Given the description of an element on the screen output the (x, y) to click on. 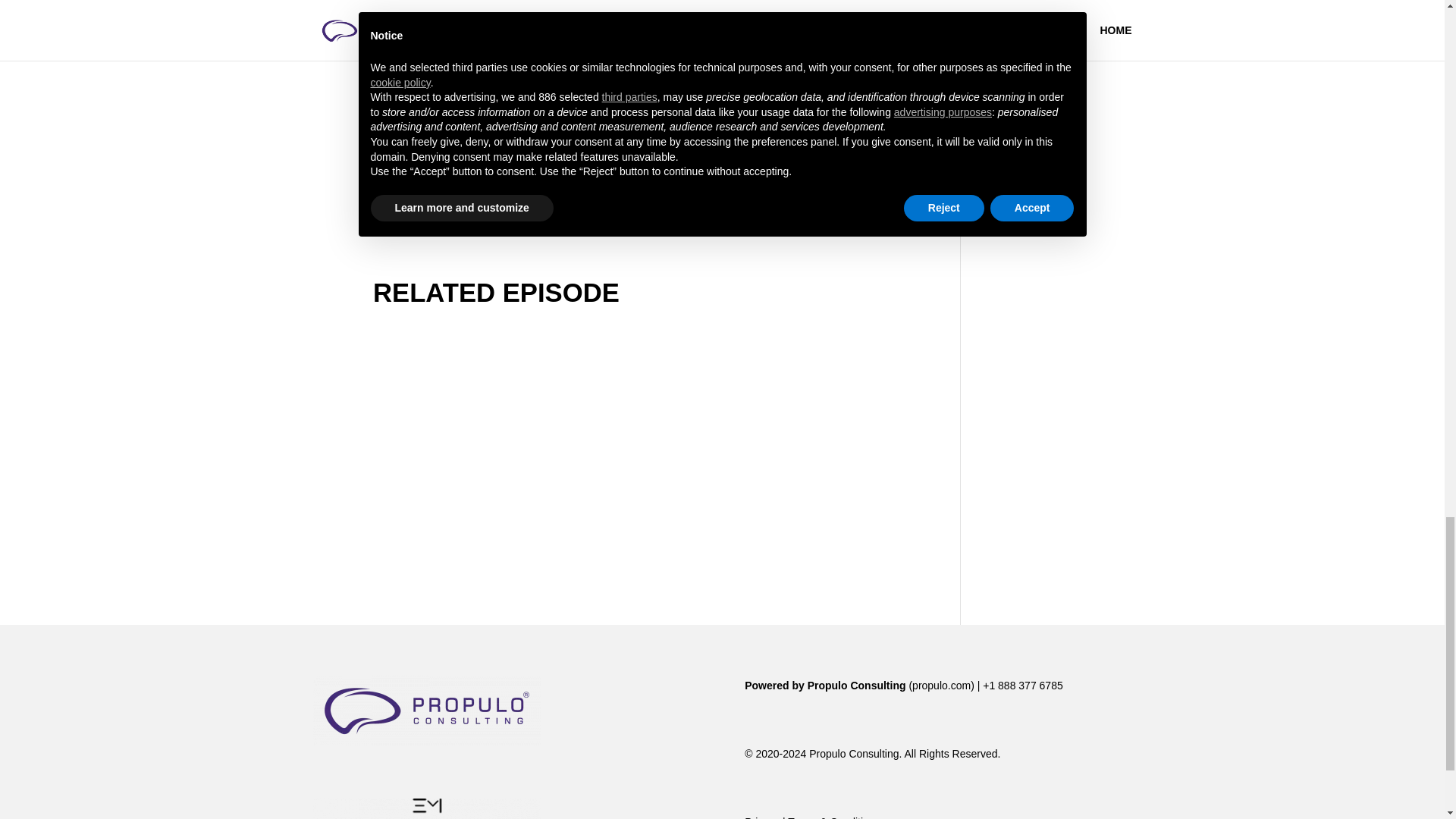
propulo.com (941, 685)
Privacy (761, 817)
Follow on LinkedIn (605, 215)
Follow on Youtube (635, 215)
